Given the description of an element on the screen output the (x, y) to click on. 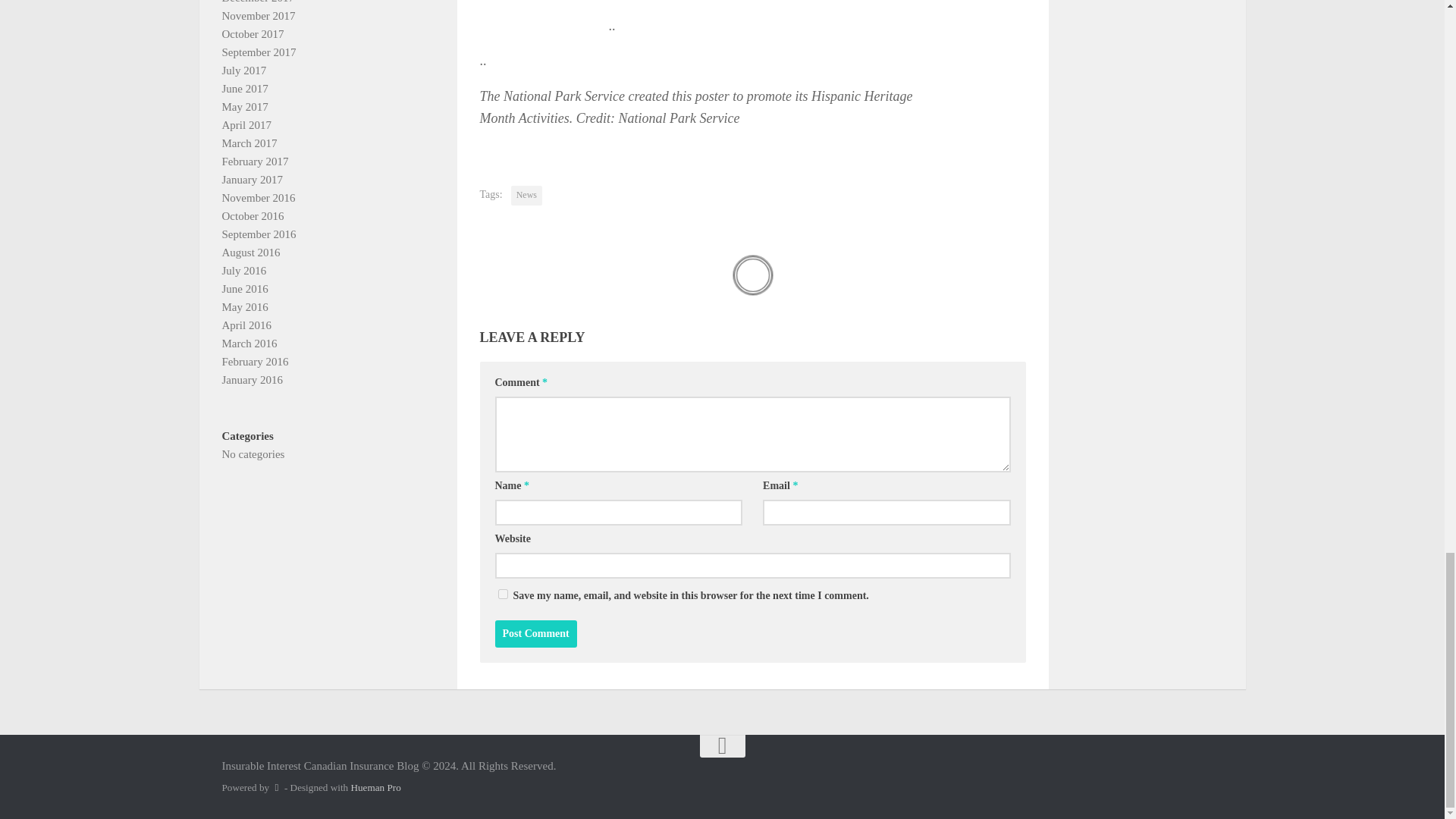
News (526, 195)
Post Comment (535, 633)
Powered by WordPress (275, 787)
Hueman Pro (375, 787)
Post Comment (535, 633)
yes (501, 593)
